Given the description of an element on the screen output the (x, y) to click on. 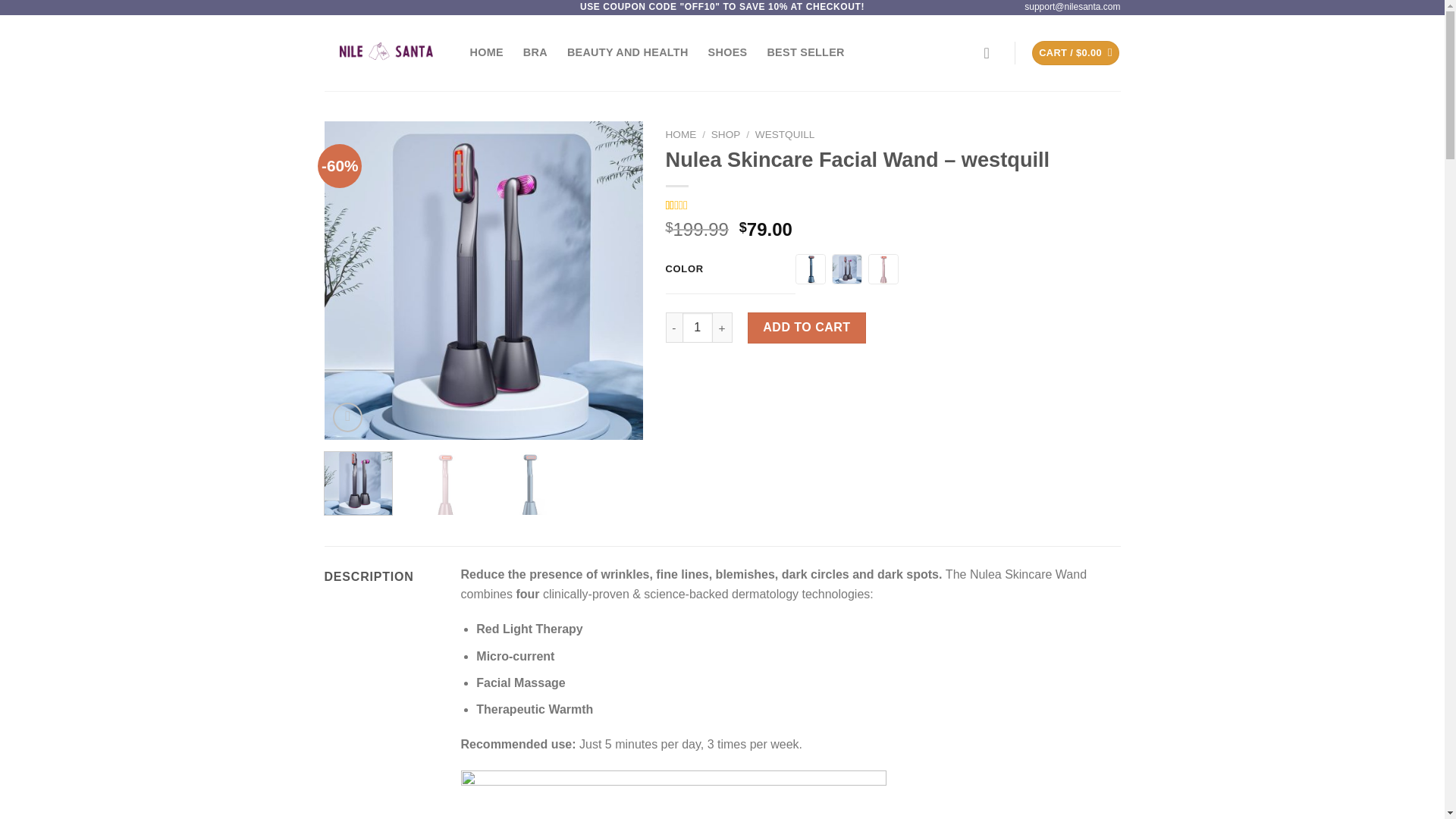
Cart (1075, 53)
SHOES (727, 52)
Blue (810, 268)
1 (697, 327)
WESTQUILL (785, 134)
Nile Santa - Find Your Perfect Style! (385, 52)
SHOP (726, 134)
HOME (486, 52)
Zoom (347, 417)
Grey (846, 268)
